Given the description of an element on the screen output the (x, y) to click on. 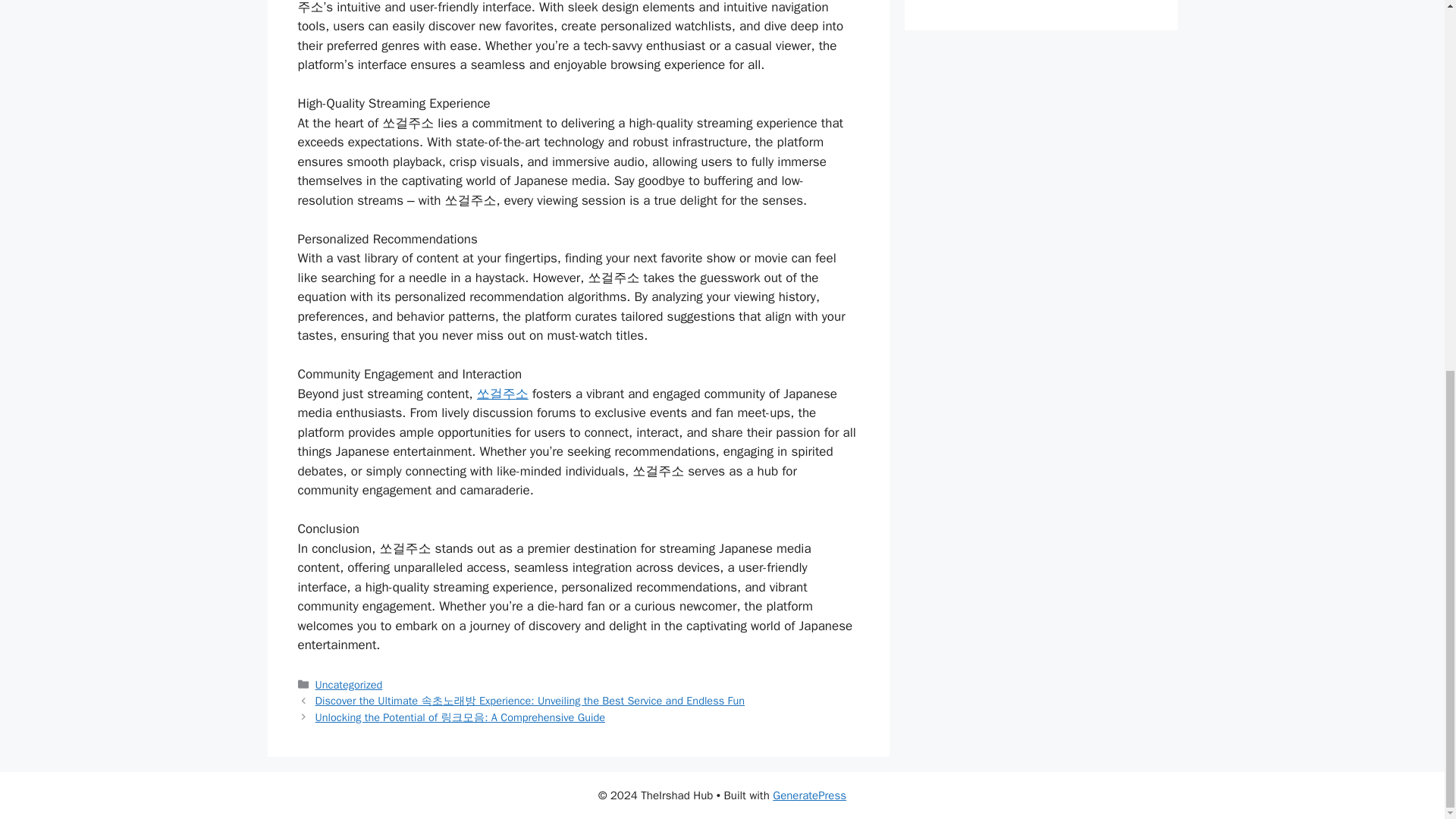
Uncategorized (348, 684)
GeneratePress (809, 795)
